Given the description of an element on the screen output the (x, y) to click on. 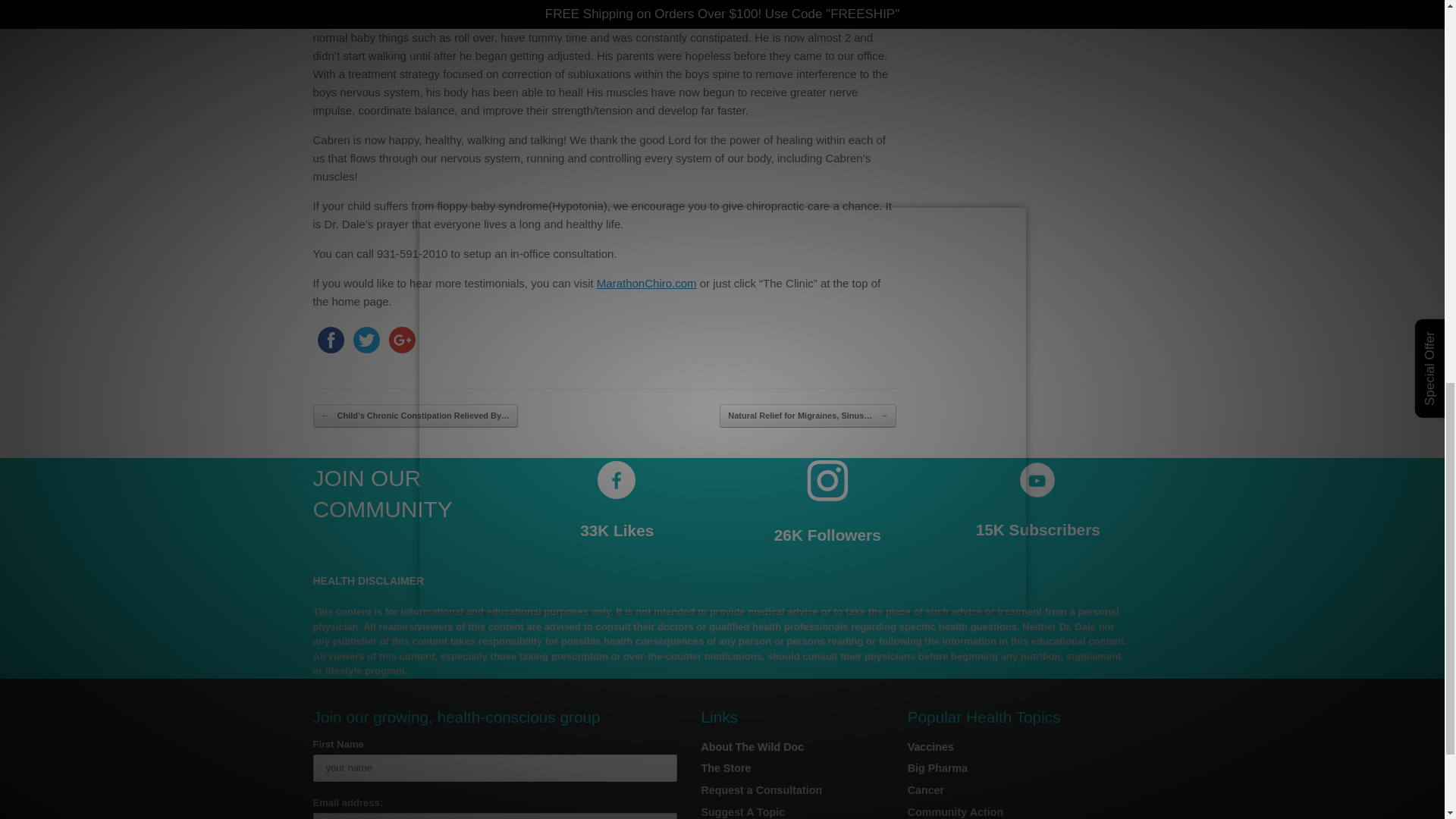
facebook (330, 339)
